Given the description of an element on the screen output the (x, y) to click on. 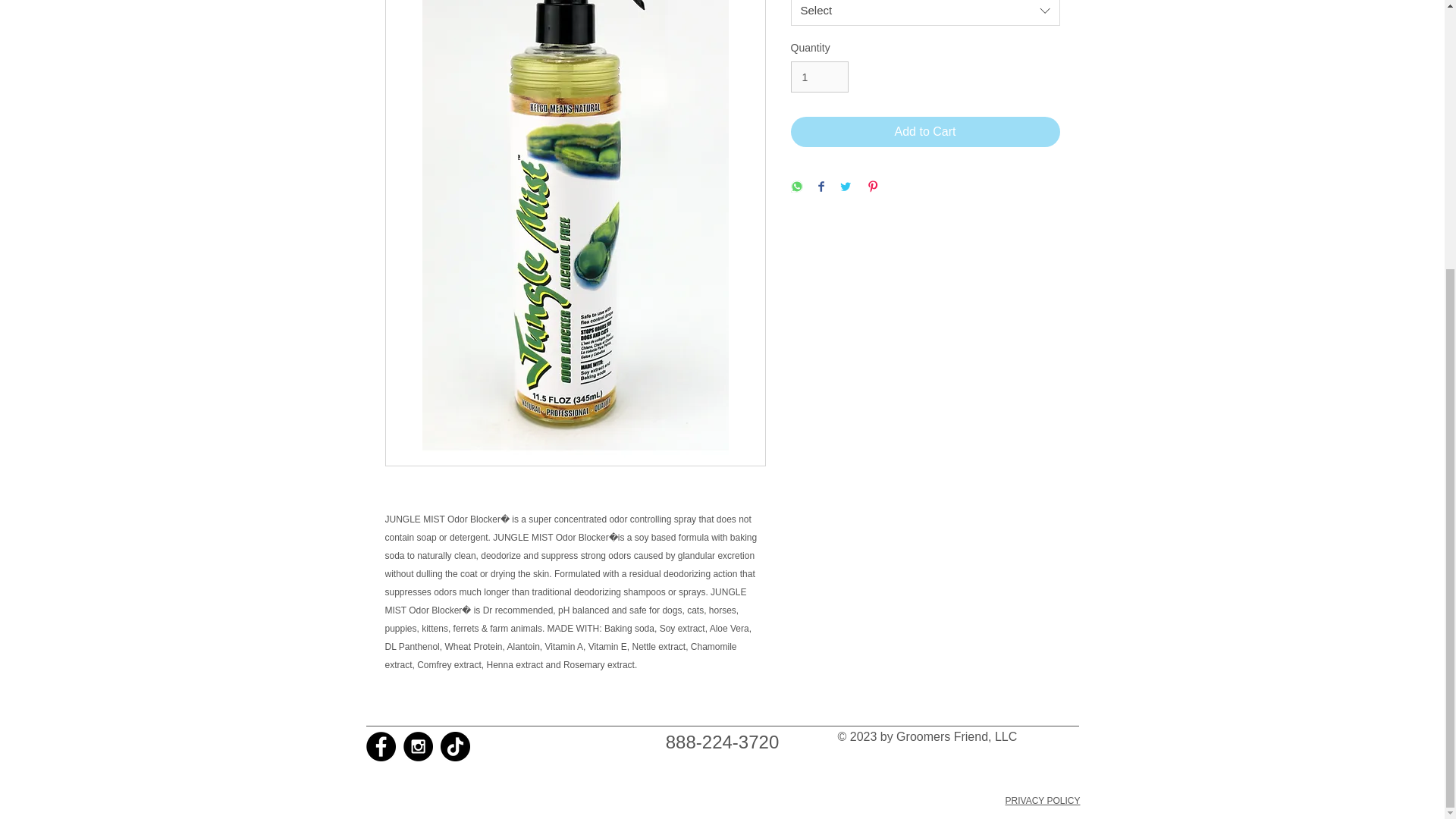
1 (818, 76)
Add to Cart (924, 132)
Select (924, 12)
PRIVACY POLICY (1043, 800)
